Given the description of an element on the screen output the (x, y) to click on. 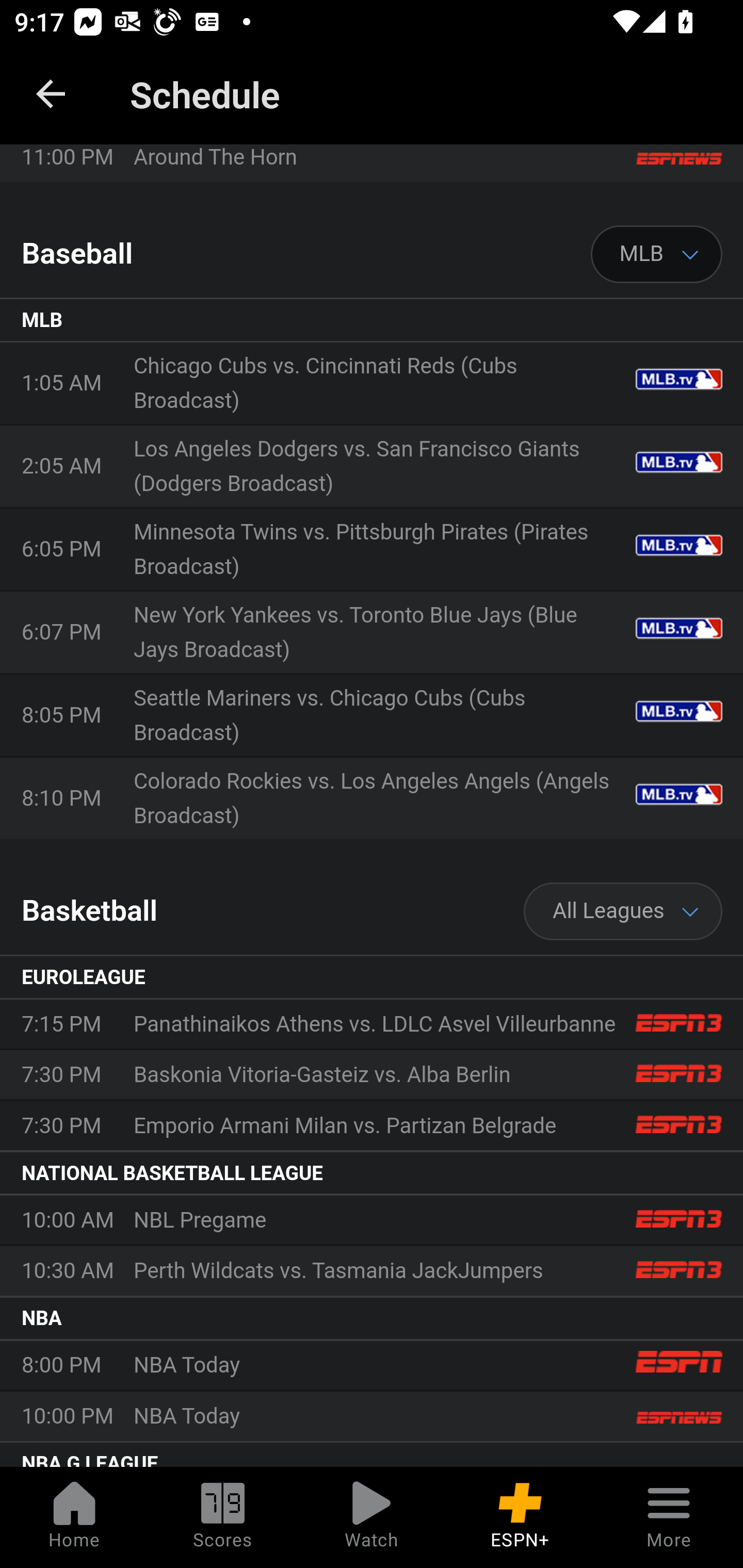
back.button (50, 93)
MLB (657, 255)
All Leagues (622, 912)
Home (74, 1517)
Scores (222, 1517)
Watch (371, 1517)
More (668, 1517)
